Given the description of an element on the screen output the (x, y) to click on. 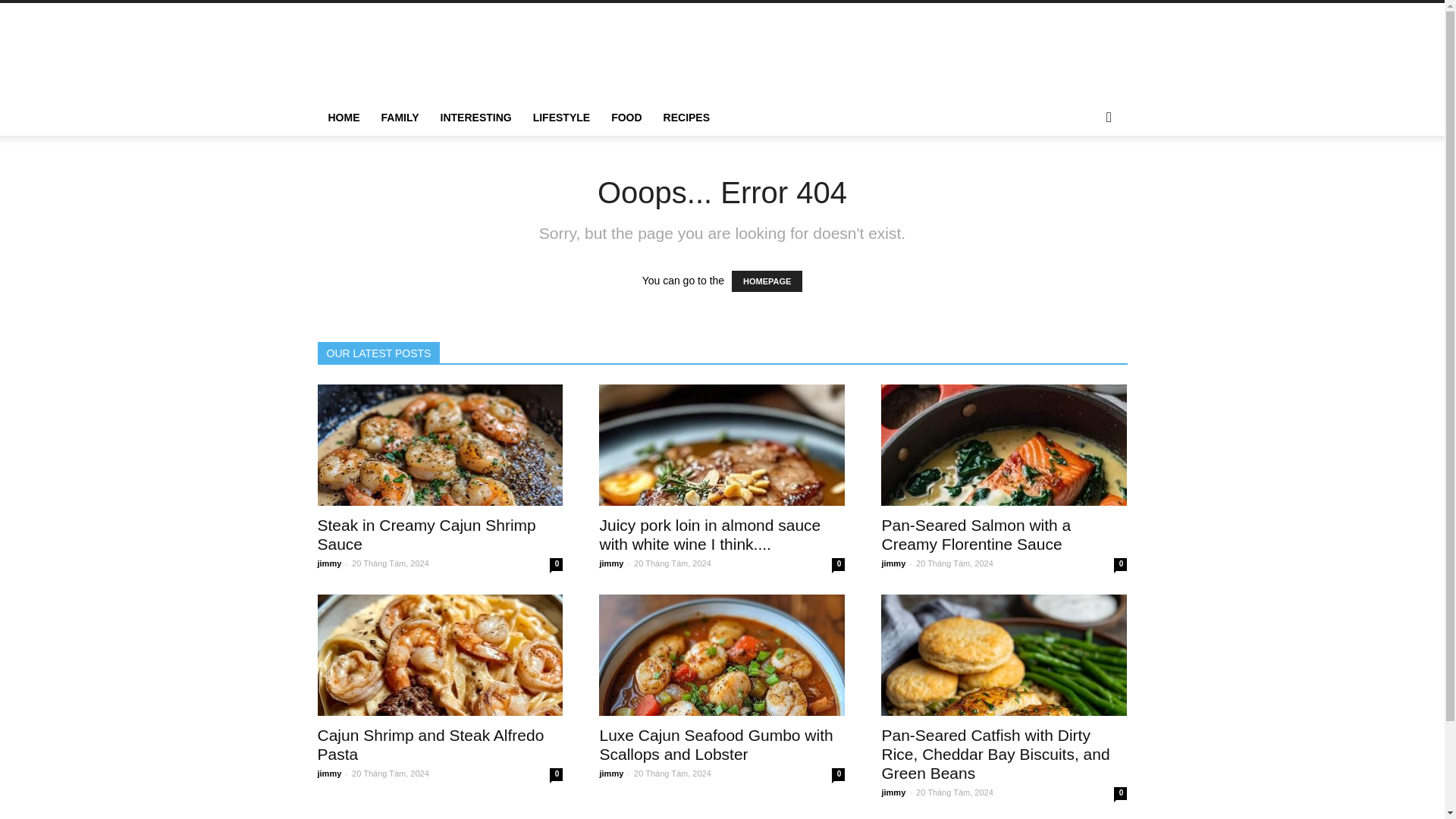
Steak in Creamy Cajun Shrimp Sauce (439, 445)
Steak in Creamy Cajun Shrimp Sauce (426, 534)
LIFESTYLE (560, 117)
jimmy (610, 563)
Luxe Cajun Seafood Gumbo with Scallops and Lobster (715, 744)
0 (1119, 563)
Advertisement (850, 58)
0 (556, 774)
Pan-Seared Salmon with a Creamy Florentine Sauce (975, 534)
